Given the description of an element on the screen output the (x, y) to click on. 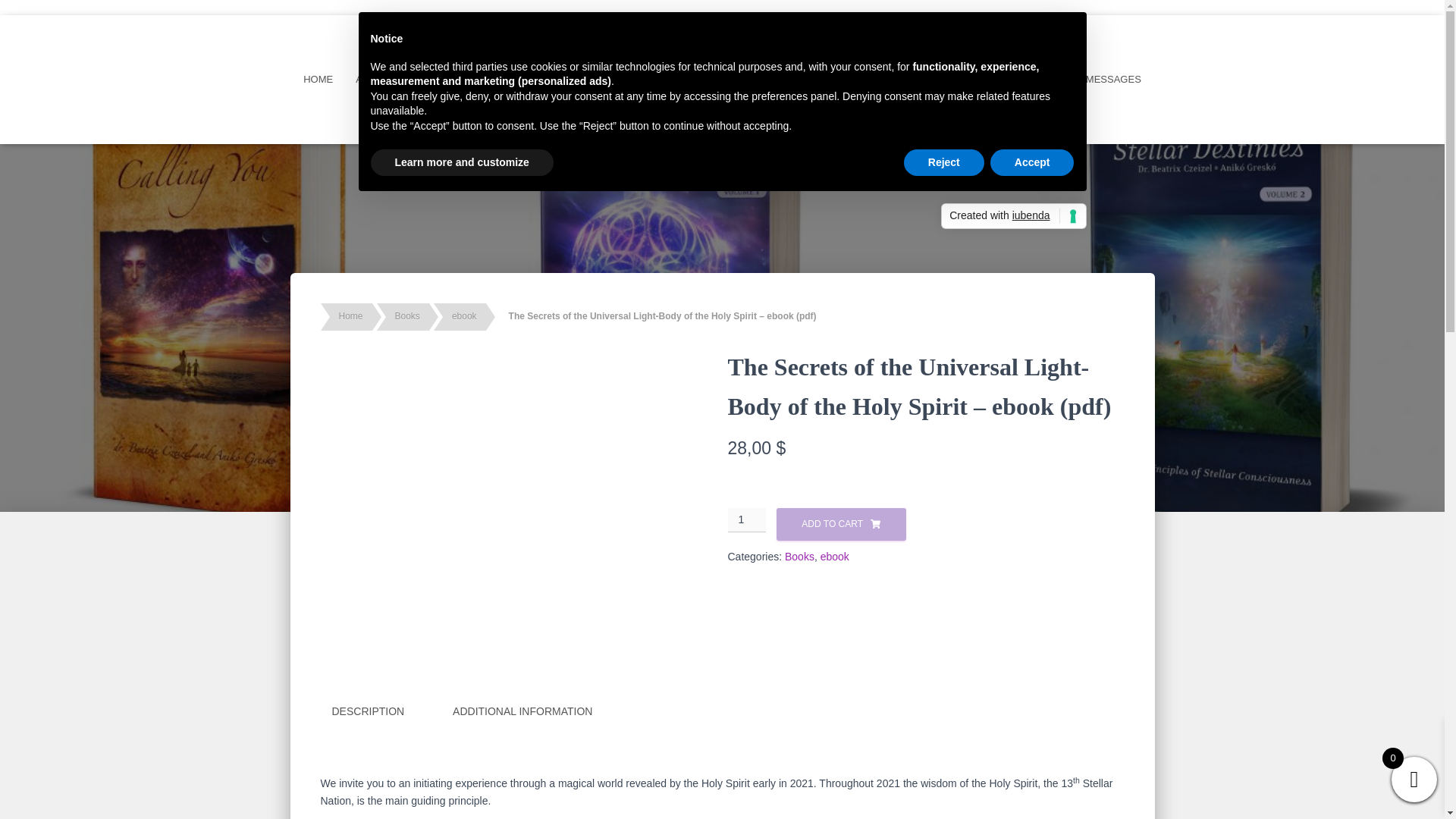
About the Authors (408, 79)
Stellar-touches (1010, 79)
BLOG (696, 117)
ebook (834, 556)
DESCRIPTION (367, 711)
ADDITIONAL INFORMATION (522, 711)
HOME (317, 79)
1 (747, 519)
Home (350, 316)
ebook (464, 316)
